Given the description of an element on the screen output the (x, y) to click on. 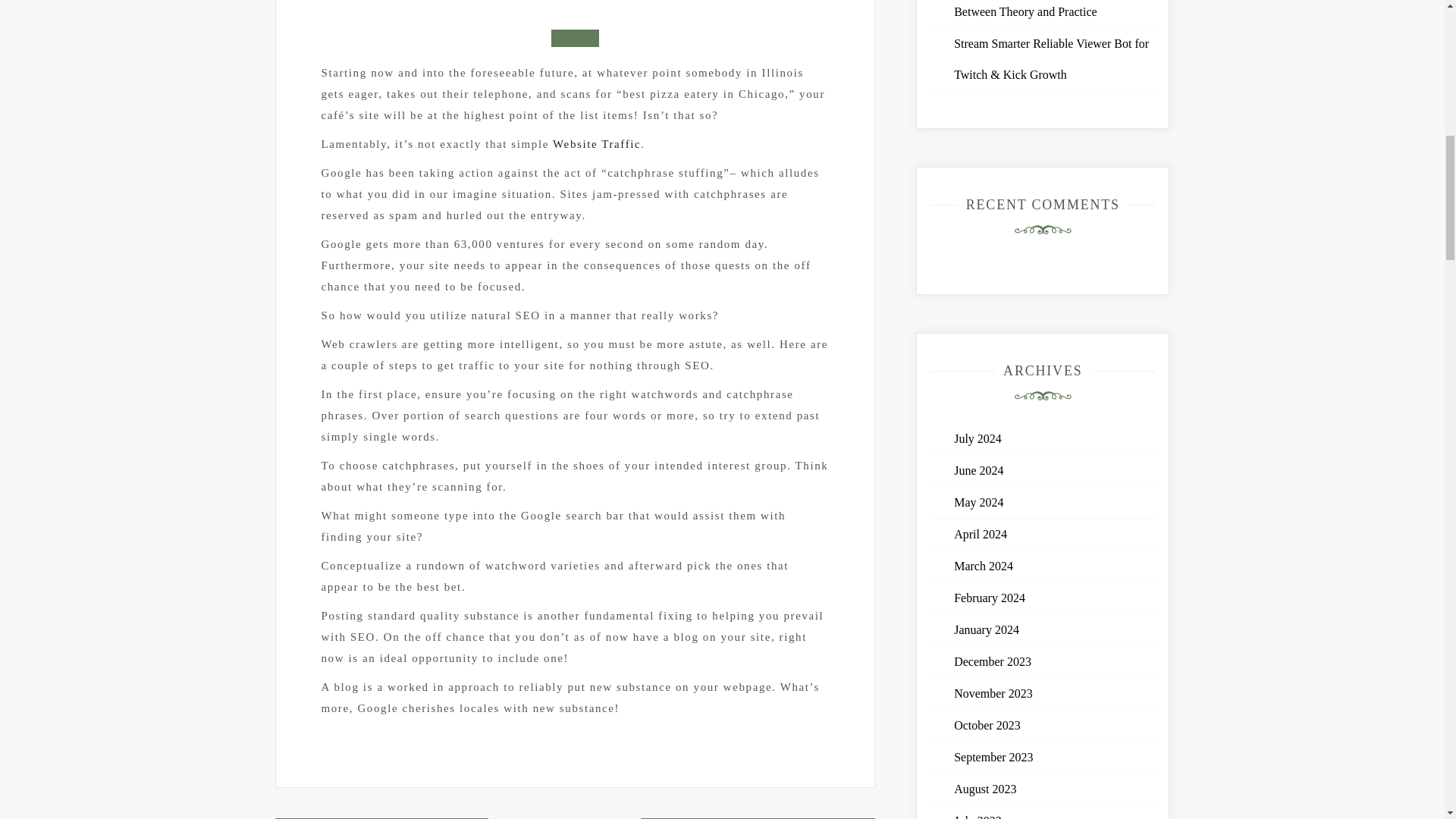
Website Traffic (596, 143)
